Given the description of an element on the screen output the (x, y) to click on. 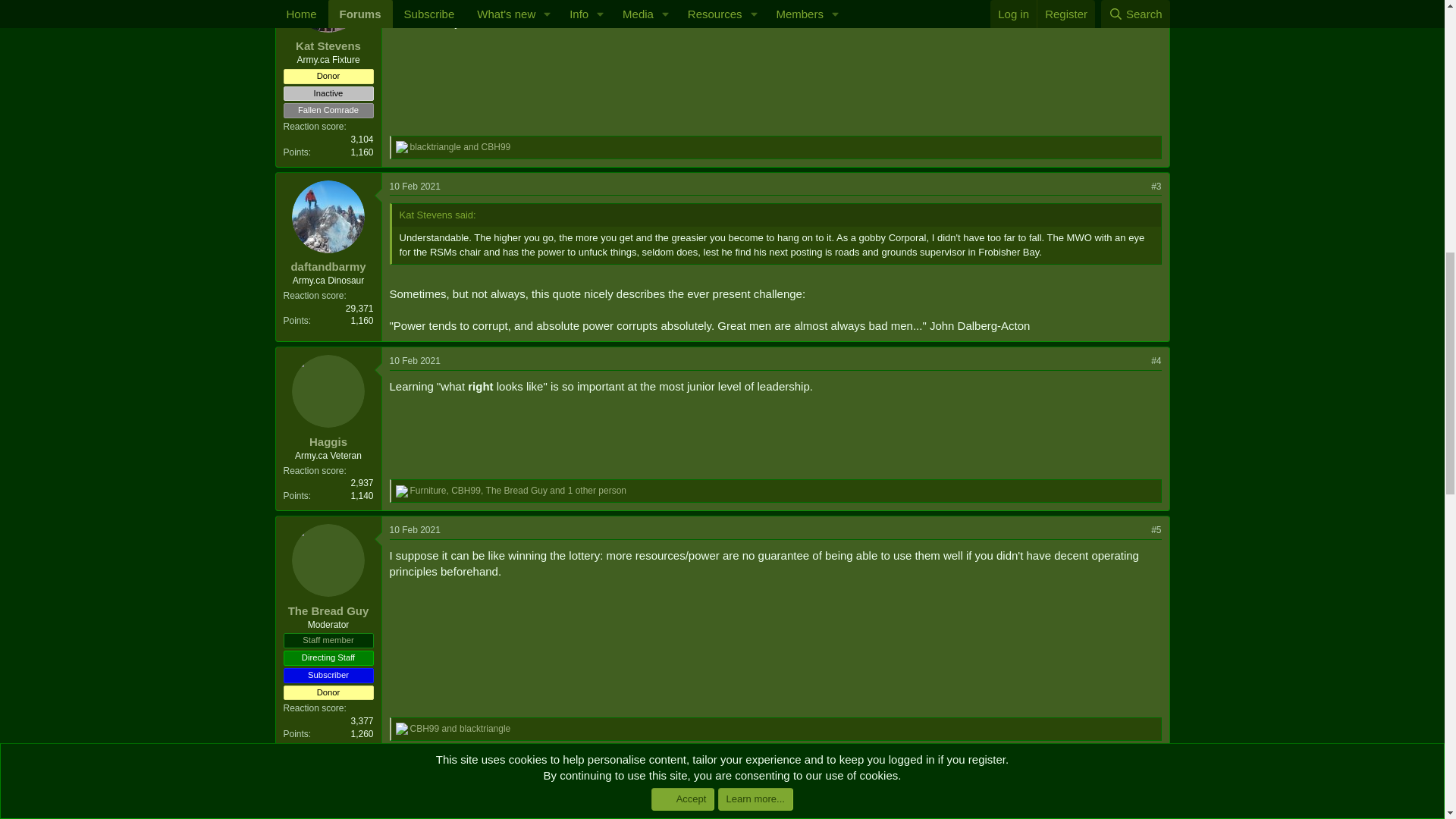
Like (401, 728)
Like (401, 146)
10 Feb 2021 at 15:37 (415, 529)
Like (401, 491)
10 Feb 2021 at 12:46 (415, 185)
10 Feb 2021 at 19:28 (415, 767)
10 Feb 2021 at 13:45 (415, 360)
